Given the description of an element on the screen output the (x, y) to click on. 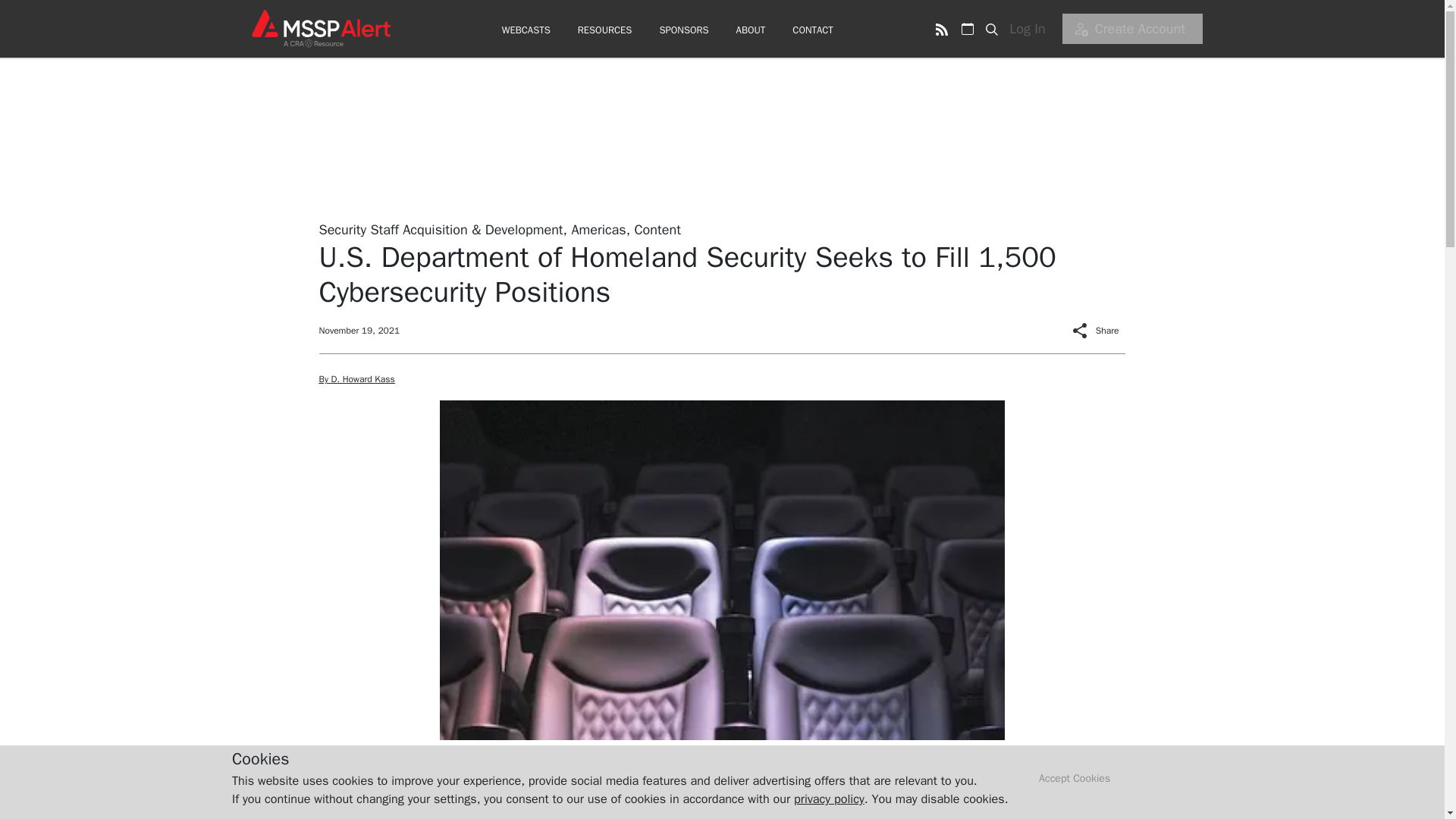
WEBCASTS (526, 30)
By D. Howard Kass (356, 378)
Create Account (1132, 29)
SPONSORS (683, 30)
Americas (598, 229)
Accept Cookies (1075, 778)
Log In (1032, 29)
Content (656, 229)
ABOUT (750, 30)
privacy policy (828, 798)
